Given the description of an element on the screen output the (x, y) to click on. 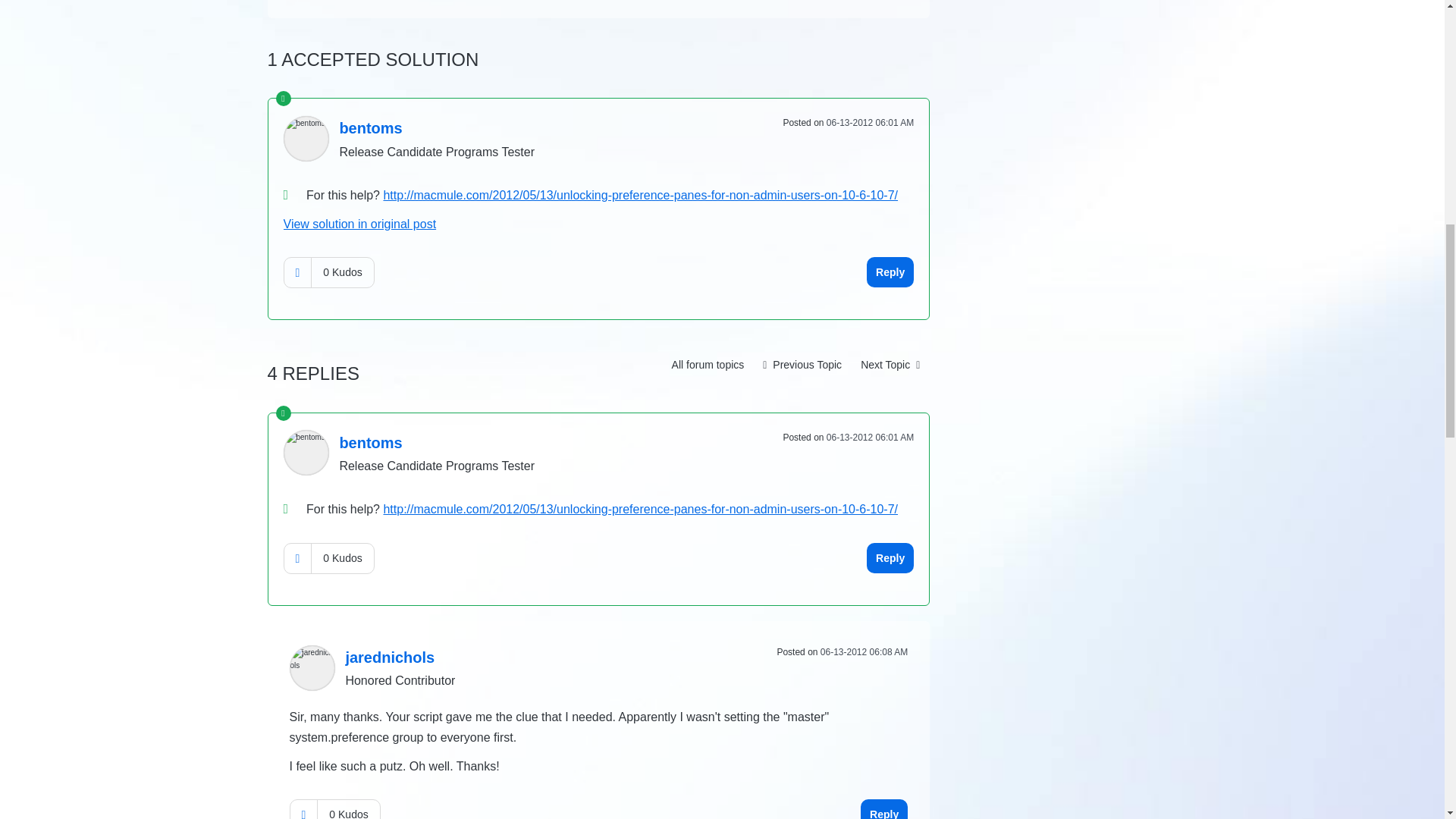
bentoms (306, 138)
View solution in original post (359, 223)
bentoms (306, 452)
Next Topic (890, 364)
Black text boxes (801, 364)
Previous Topic (801, 364)
bentoms (370, 127)
Click here to give kudos to this post. (297, 272)
Using App Redemption Codes - Users still getting charged (890, 364)
The total number of kudos this post has received. (341, 271)
